Given the description of an element on the screen output the (x, y) to click on. 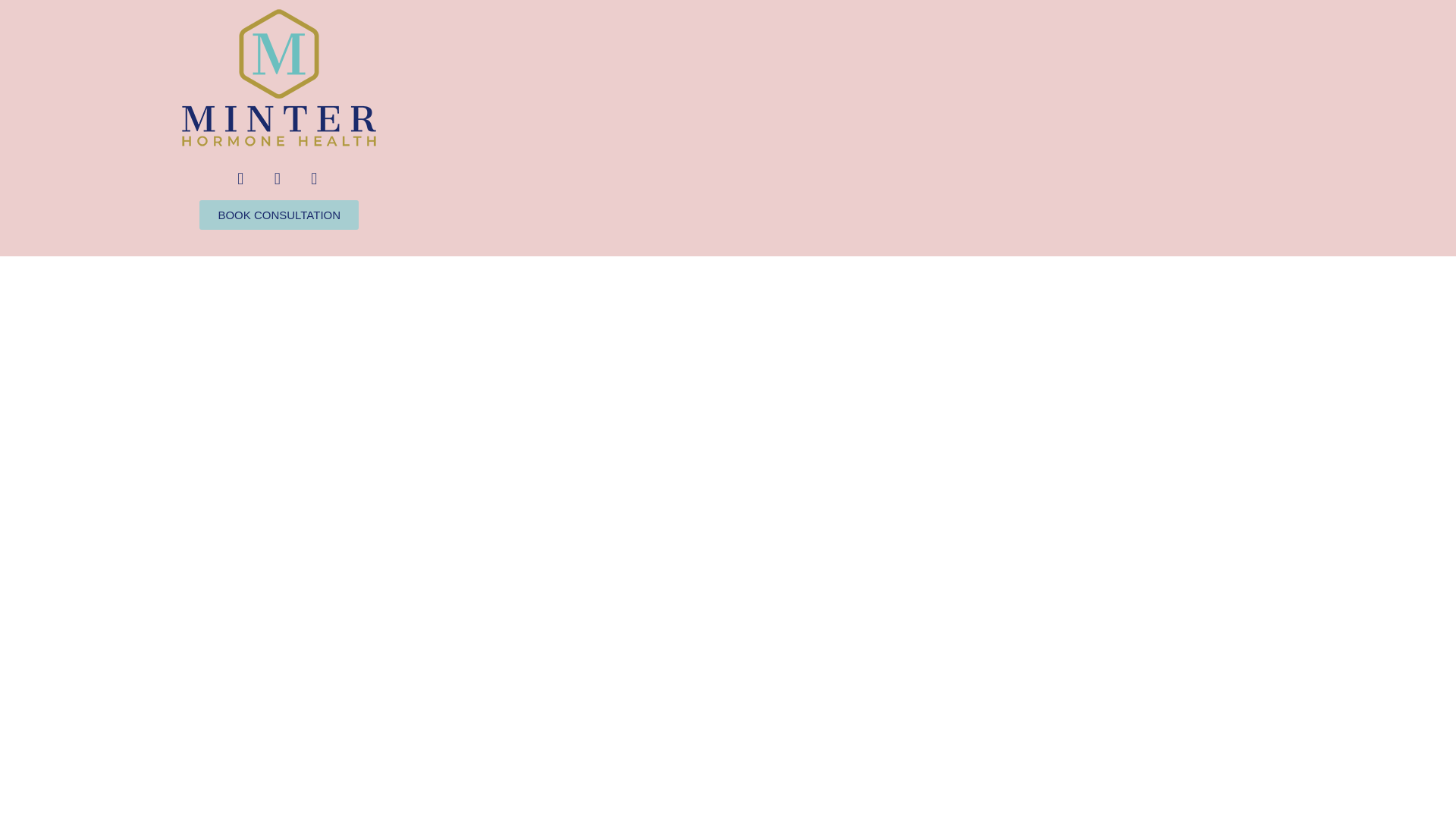
BOOK CONSULTATION (278, 214)
